Given the description of an element on the screen output the (x, y) to click on. 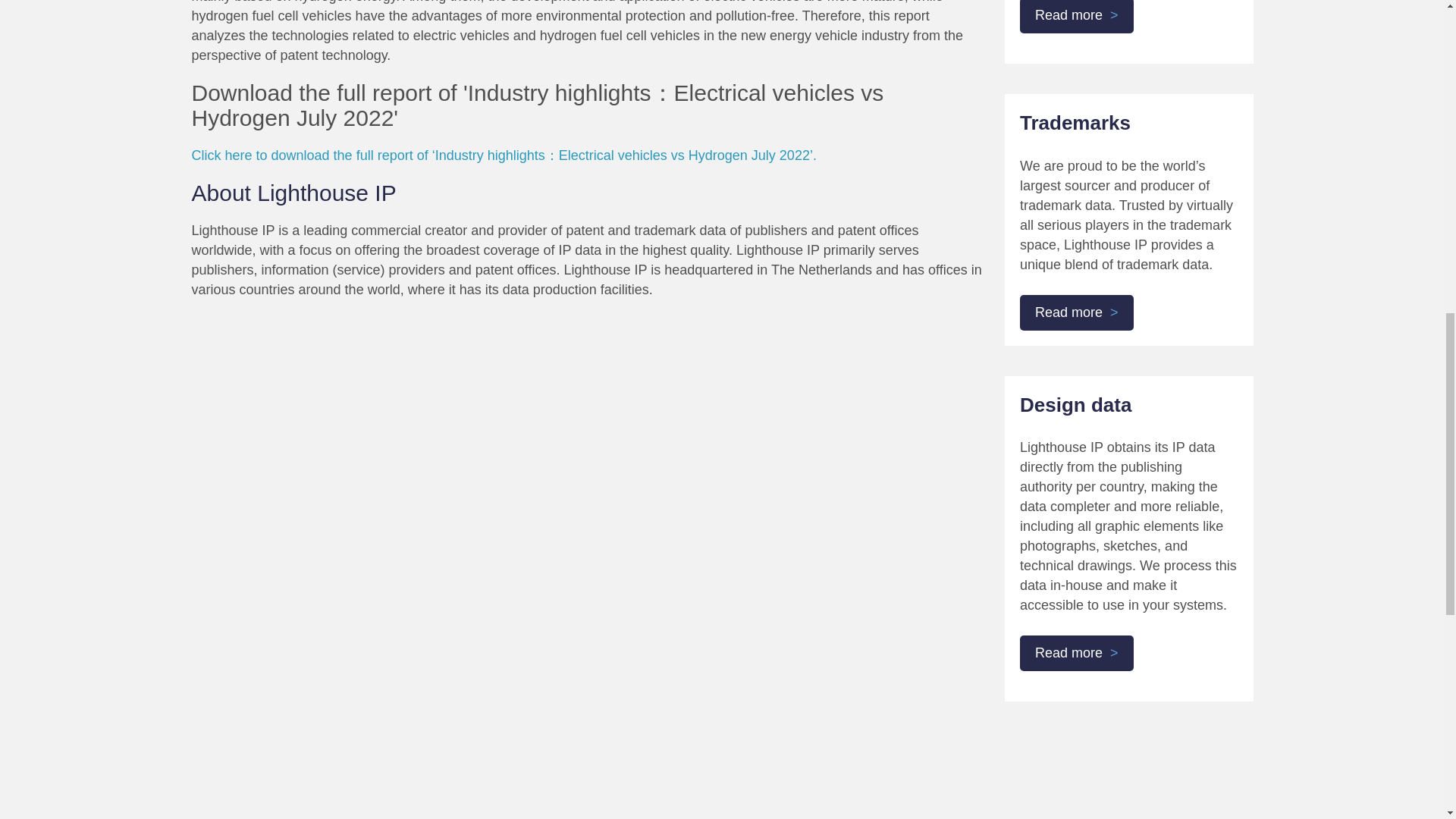
Read more (1077, 652)
Read more (1077, 16)
Read more (1077, 312)
